Given the description of an element on the screen output the (x, y) to click on. 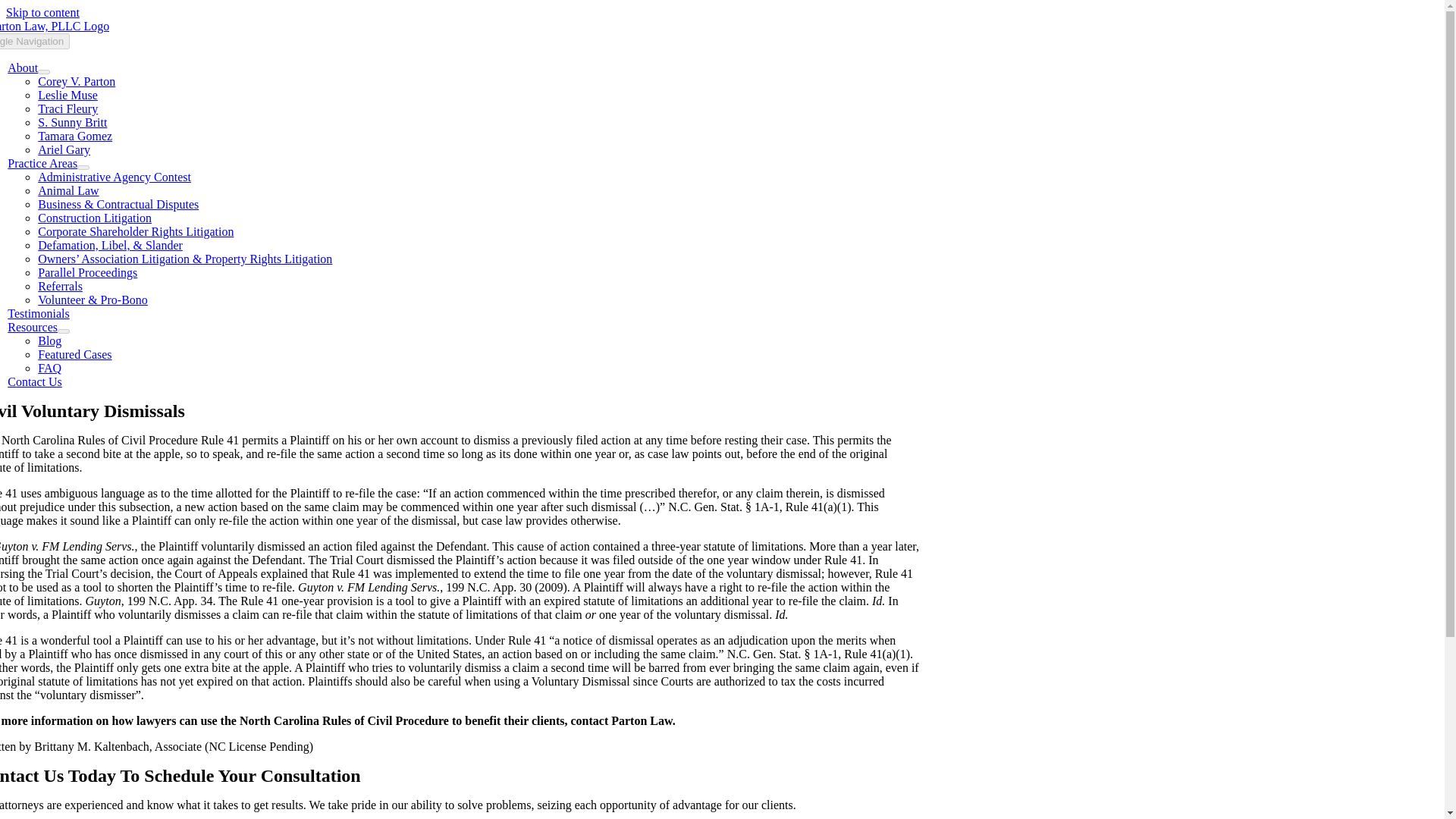
Corporate Shareholder Rights Litigation (134, 231)
Ariel Gary (63, 149)
Practice Areas (42, 163)
Referrals (59, 286)
Toggle Navigation (34, 41)
Administrative Agency Contest (113, 176)
Parallel Proceedings (86, 272)
Testimonials (38, 313)
Blog (49, 340)
Leslie Muse (67, 94)
